Given the description of an element on the screen output the (x, y) to click on. 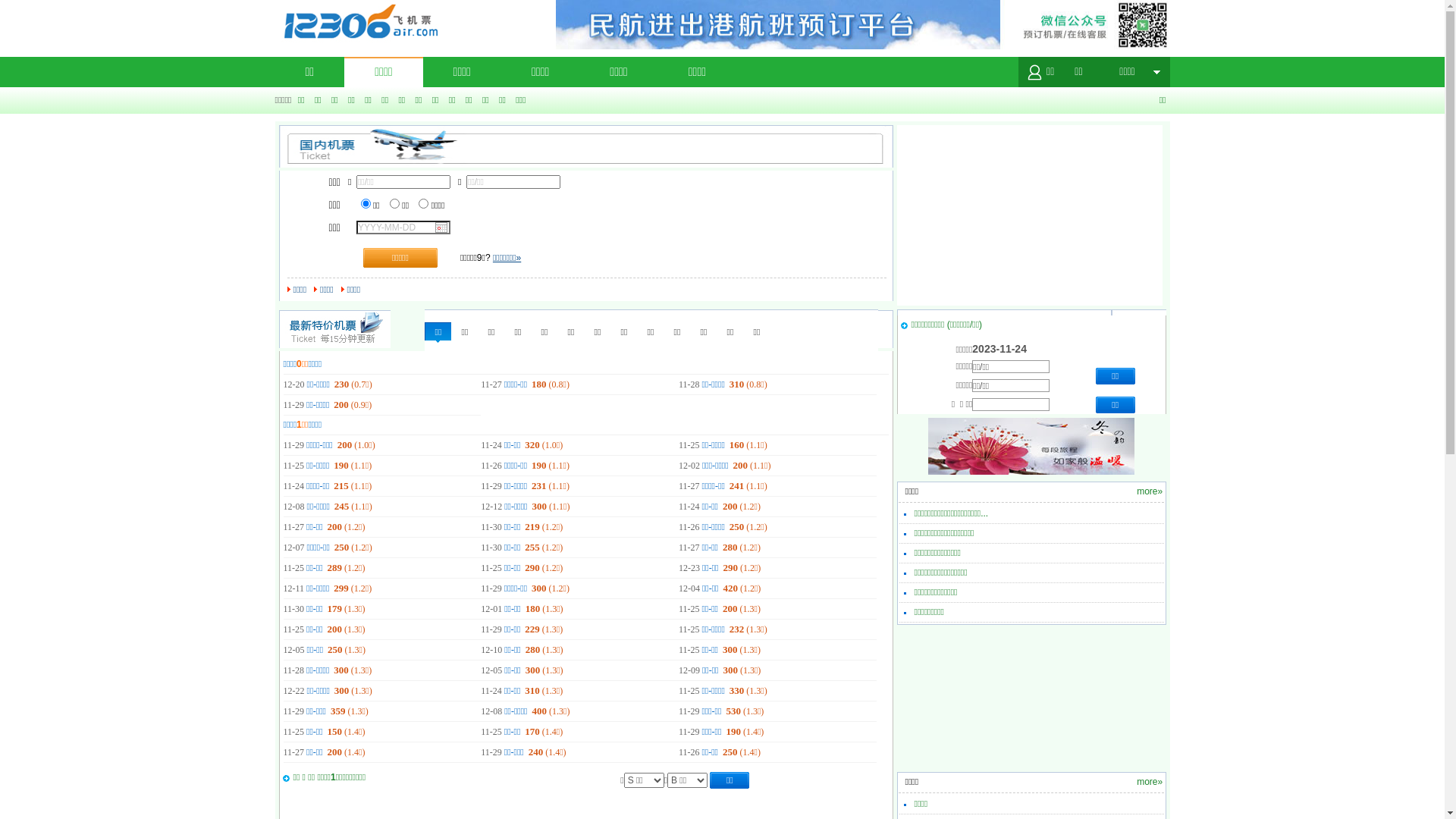
YYYY-MM-DD Element type: text (47, 6)
1 Element type: text (365, 203)
3 Element type: text (423, 203)
2 Element type: text (394, 203)
YYYY-MM-DD Element type: text (403, 227)
